Given the description of an element on the screen output the (x, y) to click on. 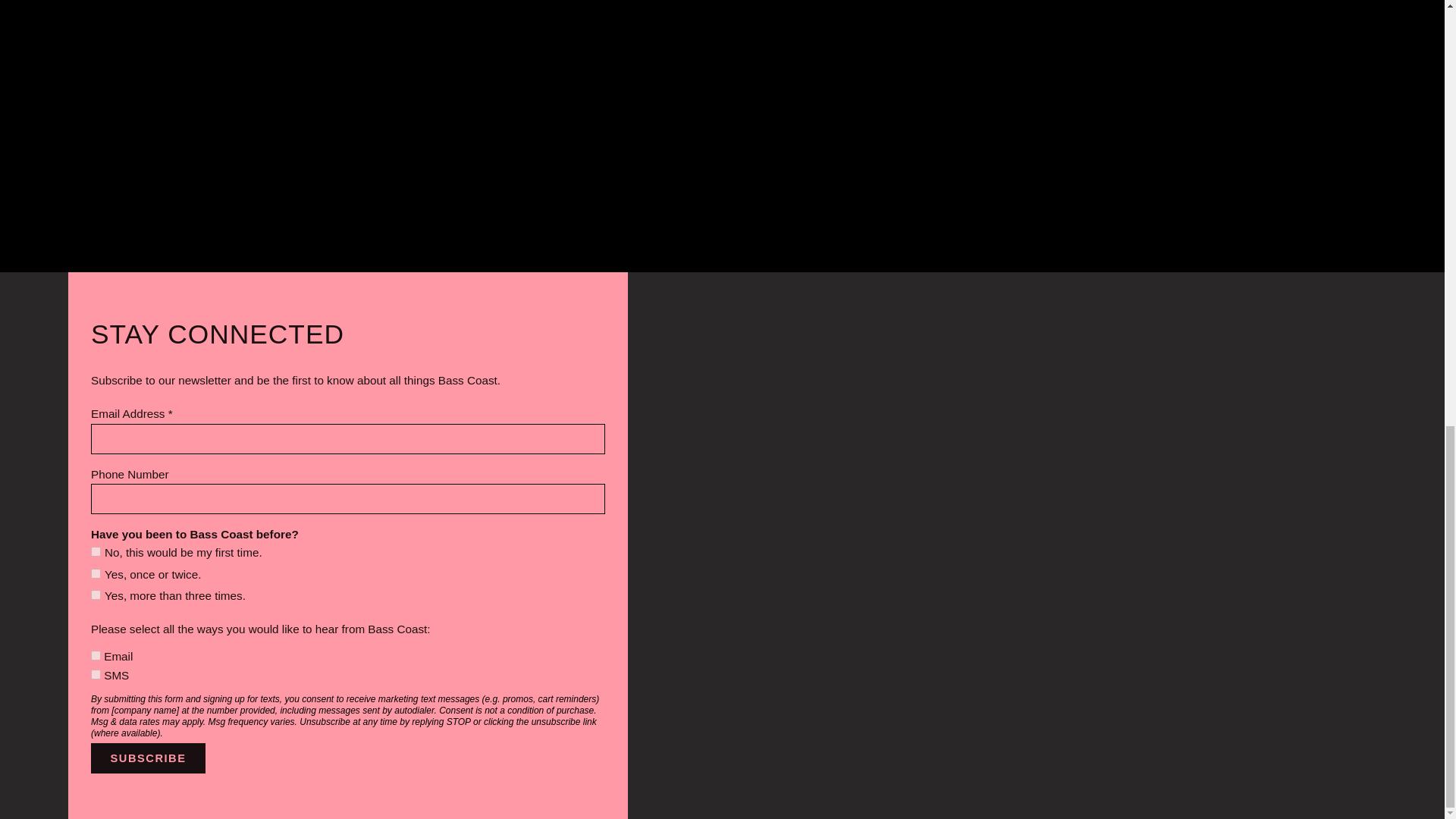
Y (95, 674)
Subscribe (147, 757)
Y (95, 655)
